Given the description of an element on the screen output the (x, y) to click on. 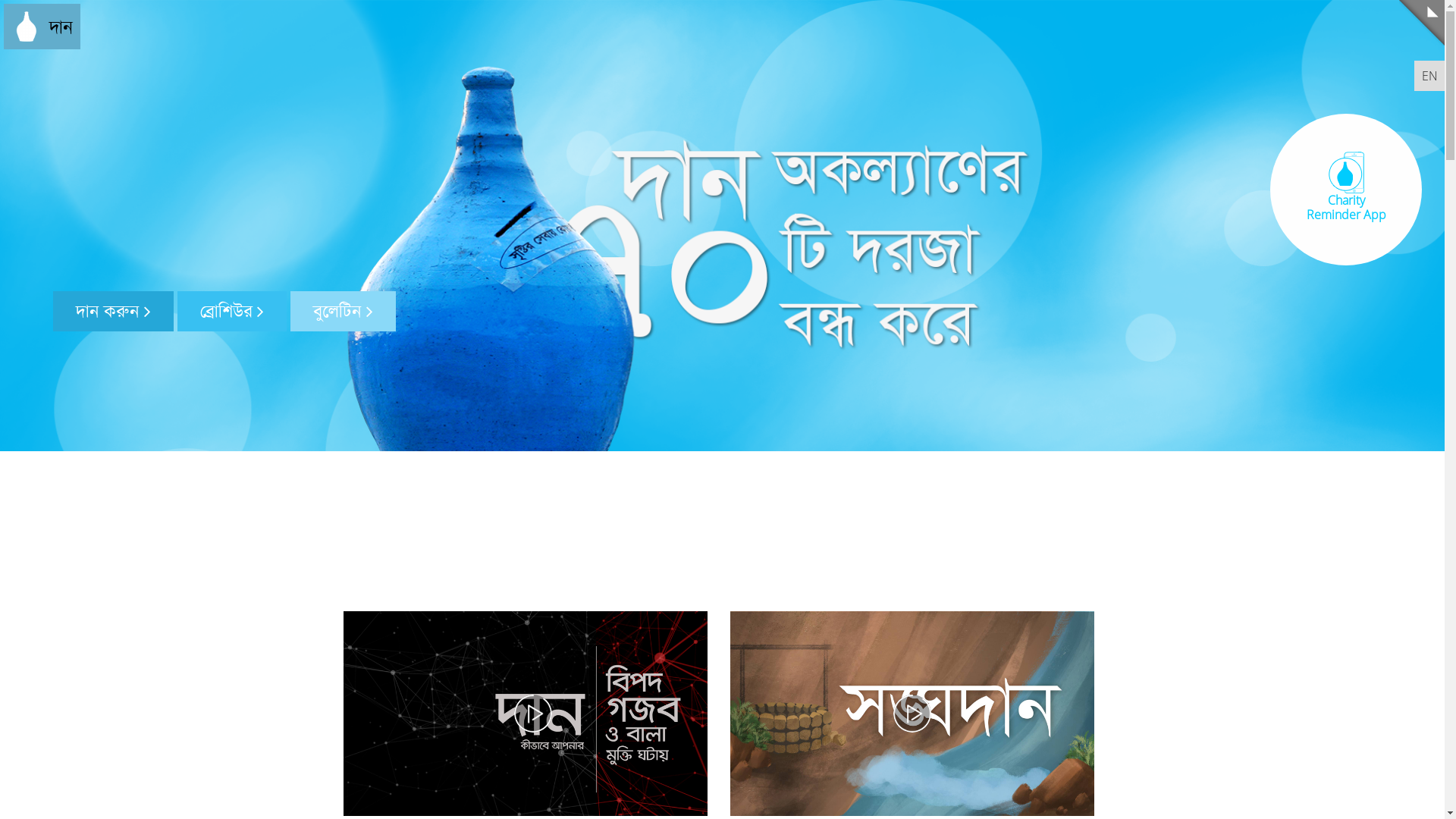
Charity
Reminder App Element type: text (1345, 183)
Menu Element type: hover (1421, 22)
